Given the description of an element on the screen output the (x, y) to click on. 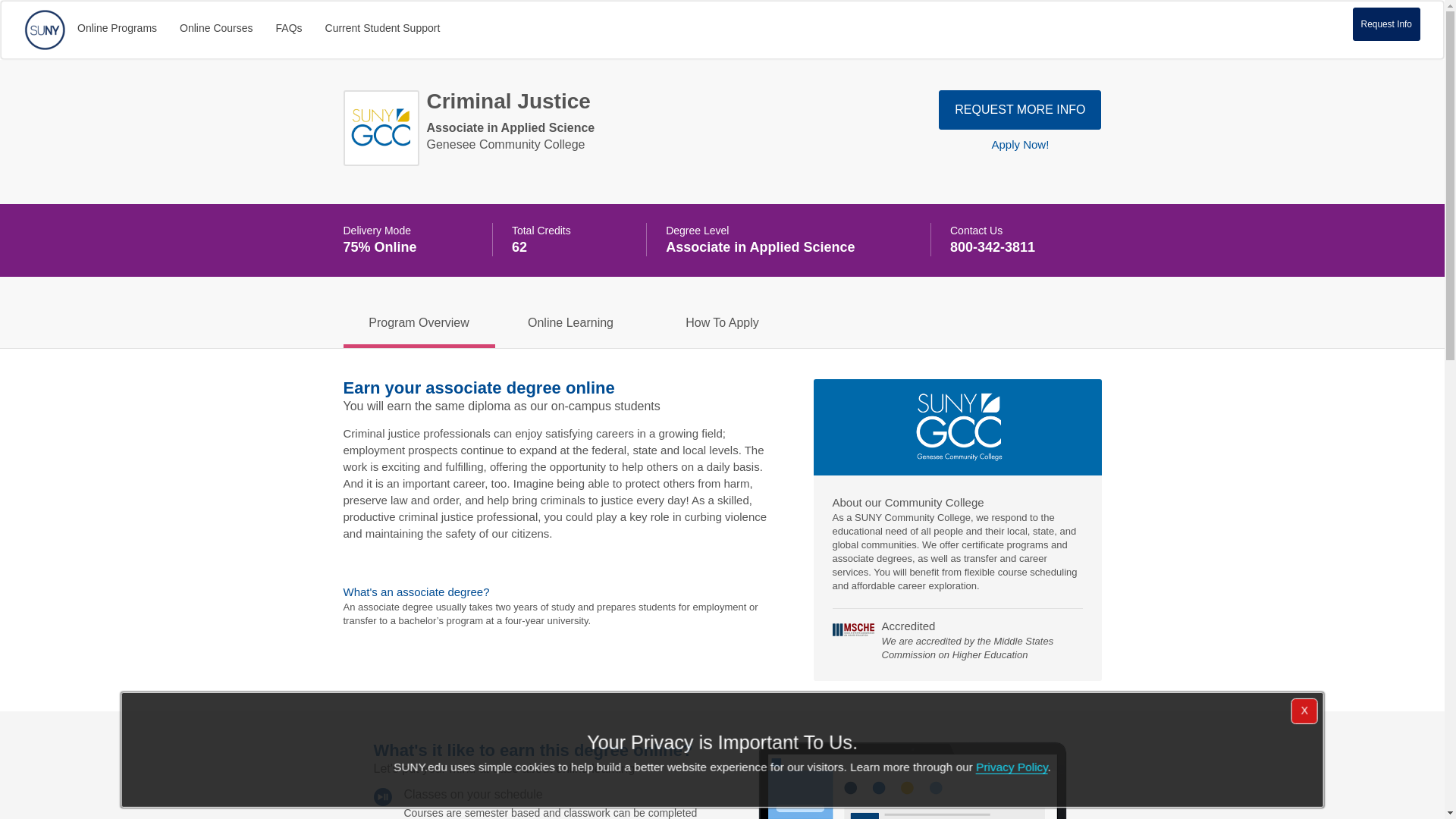
Online Courses (216, 27)
800-342-3811 (992, 246)
Apply Now! (1020, 144)
REQUEST MORE INFO (1019, 109)
Request Info (1386, 23)
Current Student Support (382, 27)
How To Apply (721, 322)
Online Programs (116, 27)
FAQs (289, 27)
X (1304, 710)
Online Learning (569, 322)
